Given the description of an element on the screen output the (x, y) to click on. 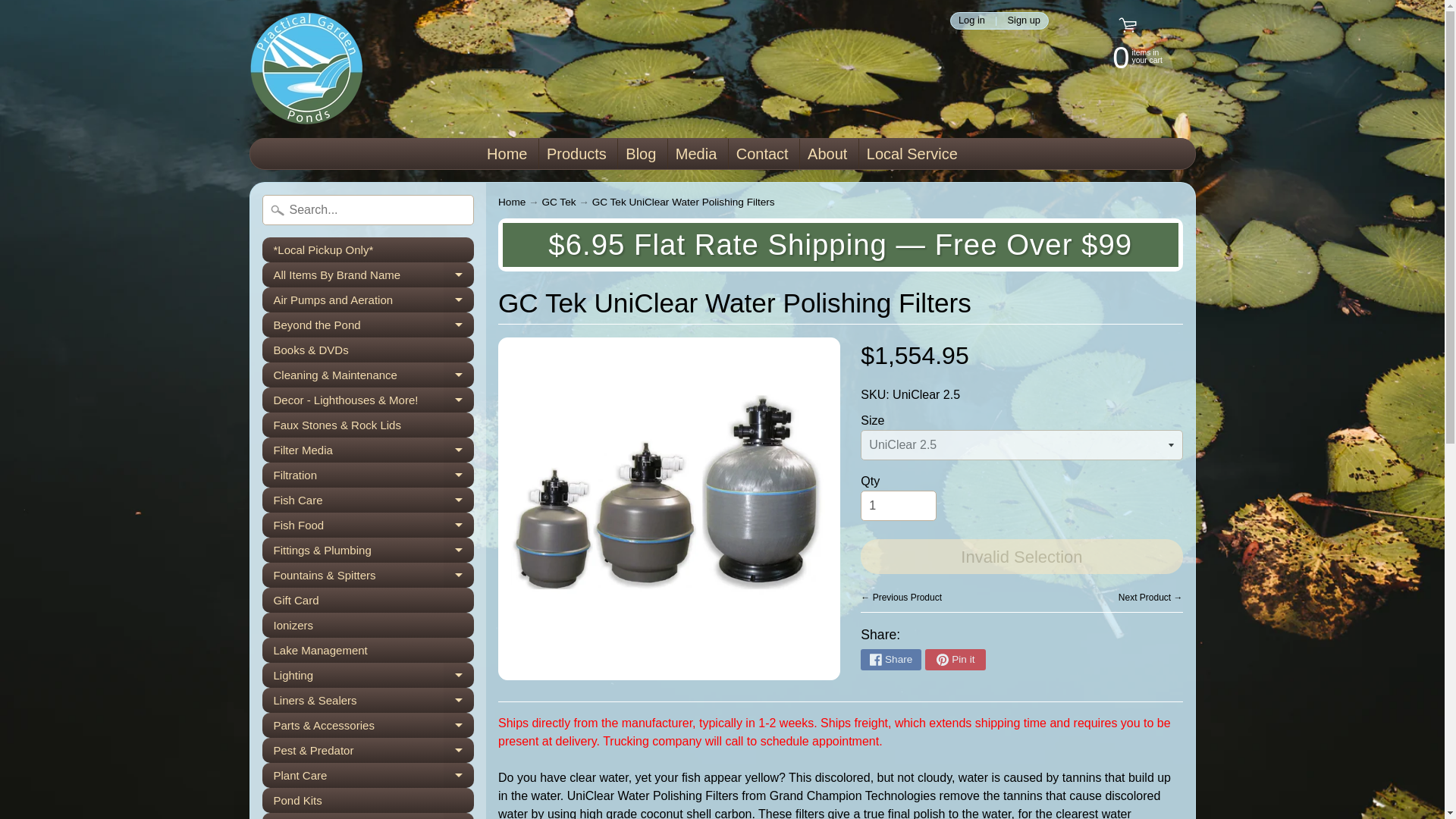
Share on Facebook (890, 659)
Expand child menu (459, 274)
Blog (640, 153)
Home (506, 153)
Back to the home page (511, 202)
1 (898, 505)
Log in (970, 20)
Contact (762, 153)
Practical Garden Ponds (1122, 56)
Media (305, 69)
Sign up (368, 274)
Local Service (695, 153)
Pin on Pinterest (1024, 20)
